Given the description of an element on the screen output the (x, y) to click on. 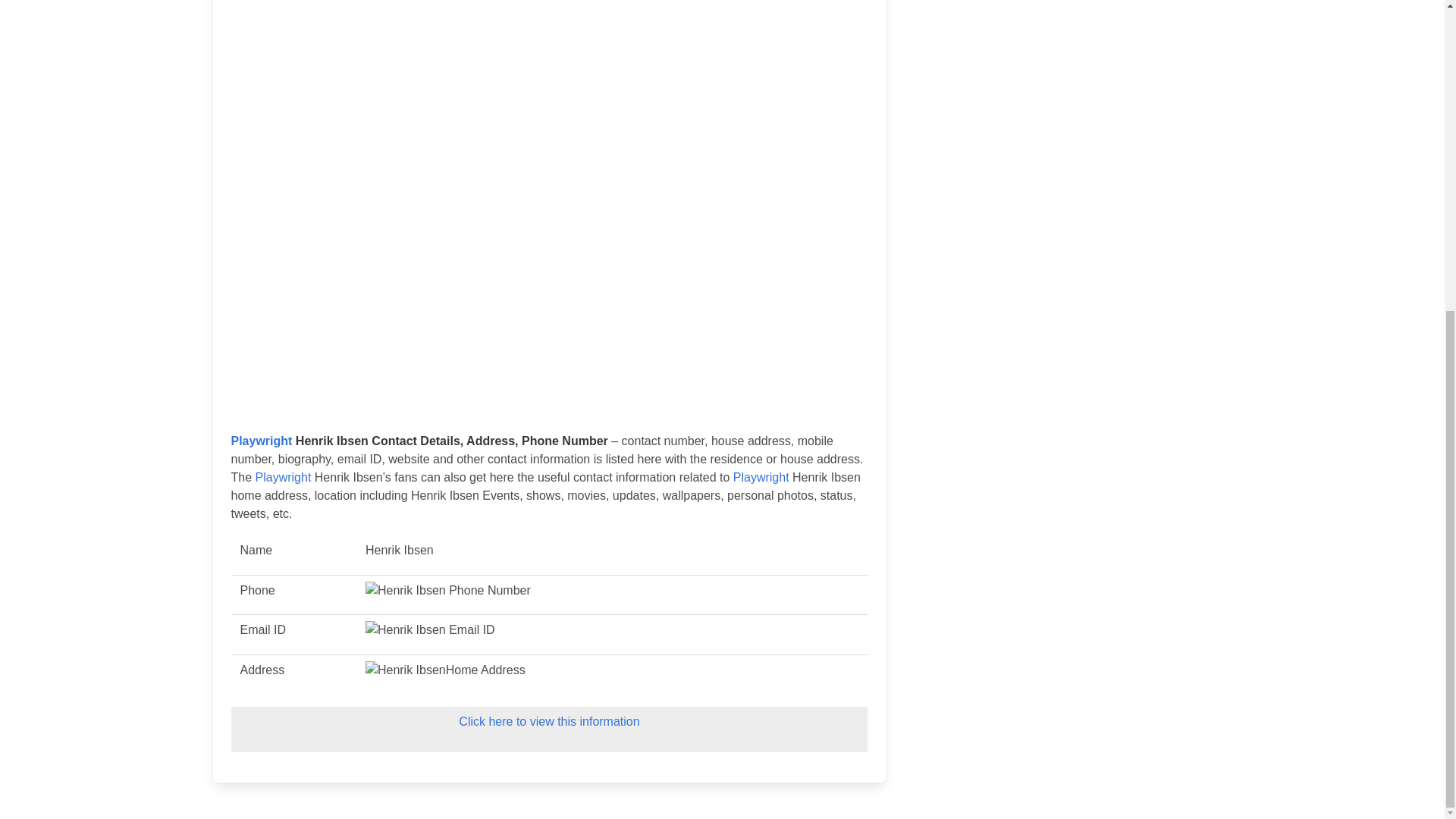
Playwright (283, 477)
Playwright (261, 440)
Click here to view this information (548, 721)
Playwright (761, 477)
